Given the description of an element on the screen output the (x, y) to click on. 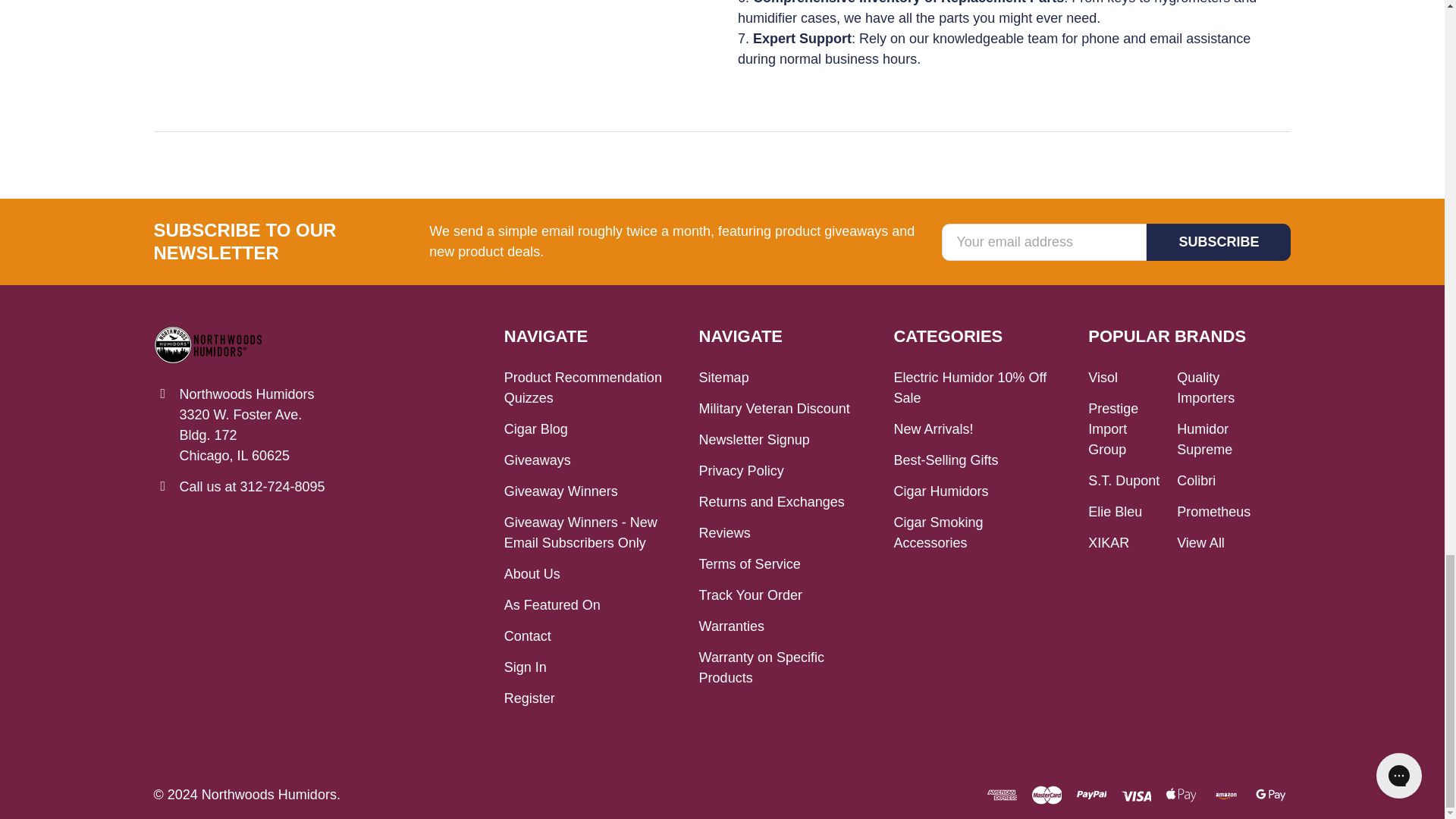
Subscribe (1218, 242)
